Given the description of an element on the screen output the (x, y) to click on. 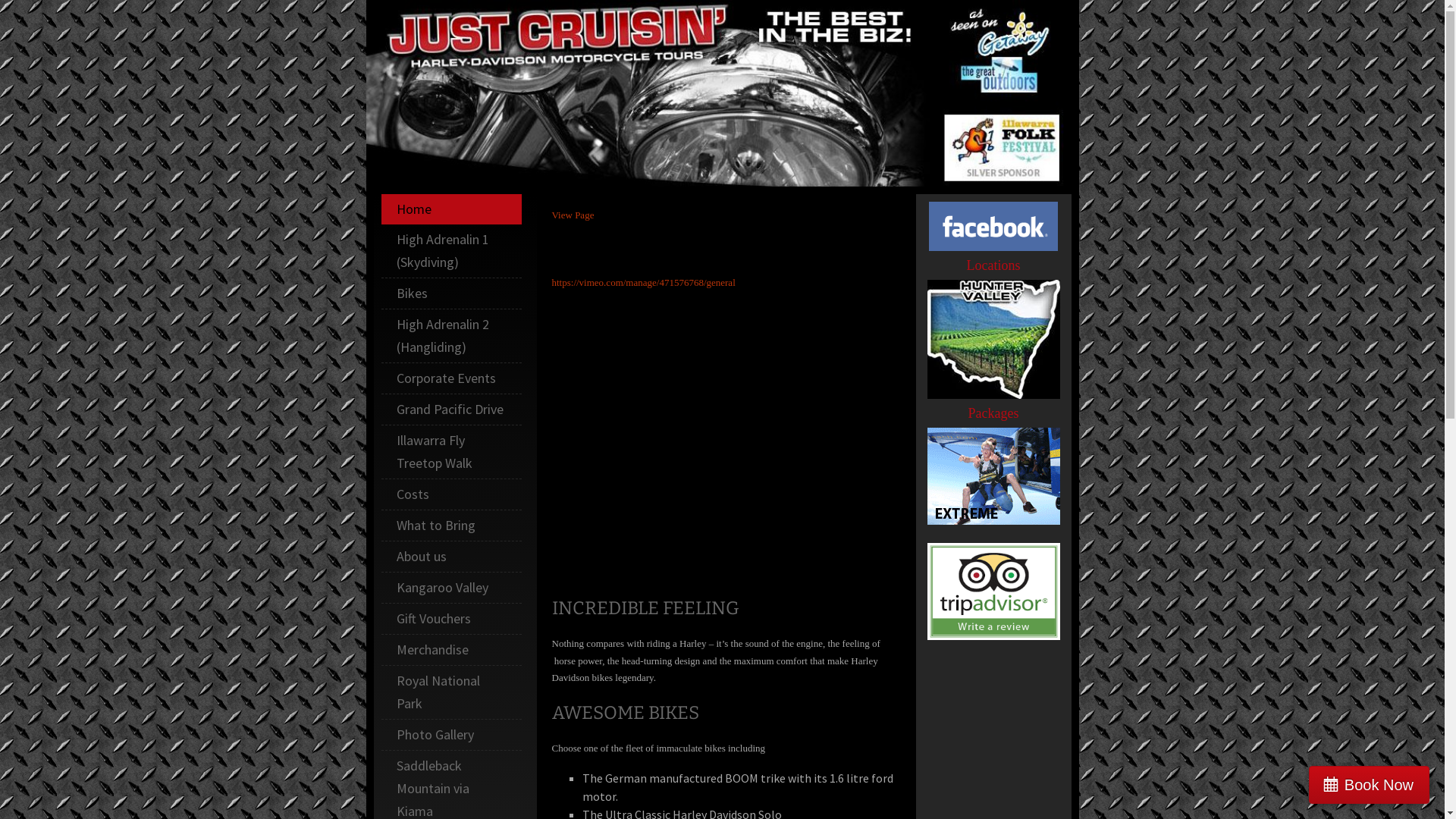
Book Now Element type: text (1368, 784)
Home Element type: text (450, 209)
About us Element type: text (450, 556)
Photo Gallery Element type: text (450, 734)
Shirts Element type: text (384, 680)
High Adrenalin 1 (Skydiving) Element type: text (450, 250)
https://vimeo.com/manage/471576768/general Element type: text (643, 282)
Illawarra Fly Treetop Walk Element type: text (450, 451)
Just Cruisin Motorcycle tours Element type: hover (726, 447)
Kangaroo Valley Element type: text (450, 587)
View Page Element type: text (573, 214)
Corporate Events Element type: text (450, 378)
Grand Pacific Drive Element type: text (450, 409)
High Adrenalin 2 (Hangliding) Element type: text (450, 335)
Bikes Element type: text (450, 293)
Royal National Park Element type: text (450, 691)
Costs Element type: text (450, 494)
Merchandise Element type: text (450, 649)
What to Bring Element type: text (450, 525)
Gift Vouchers Element type: text (450, 618)
